Given the description of an element on the screen output the (x, y) to click on. 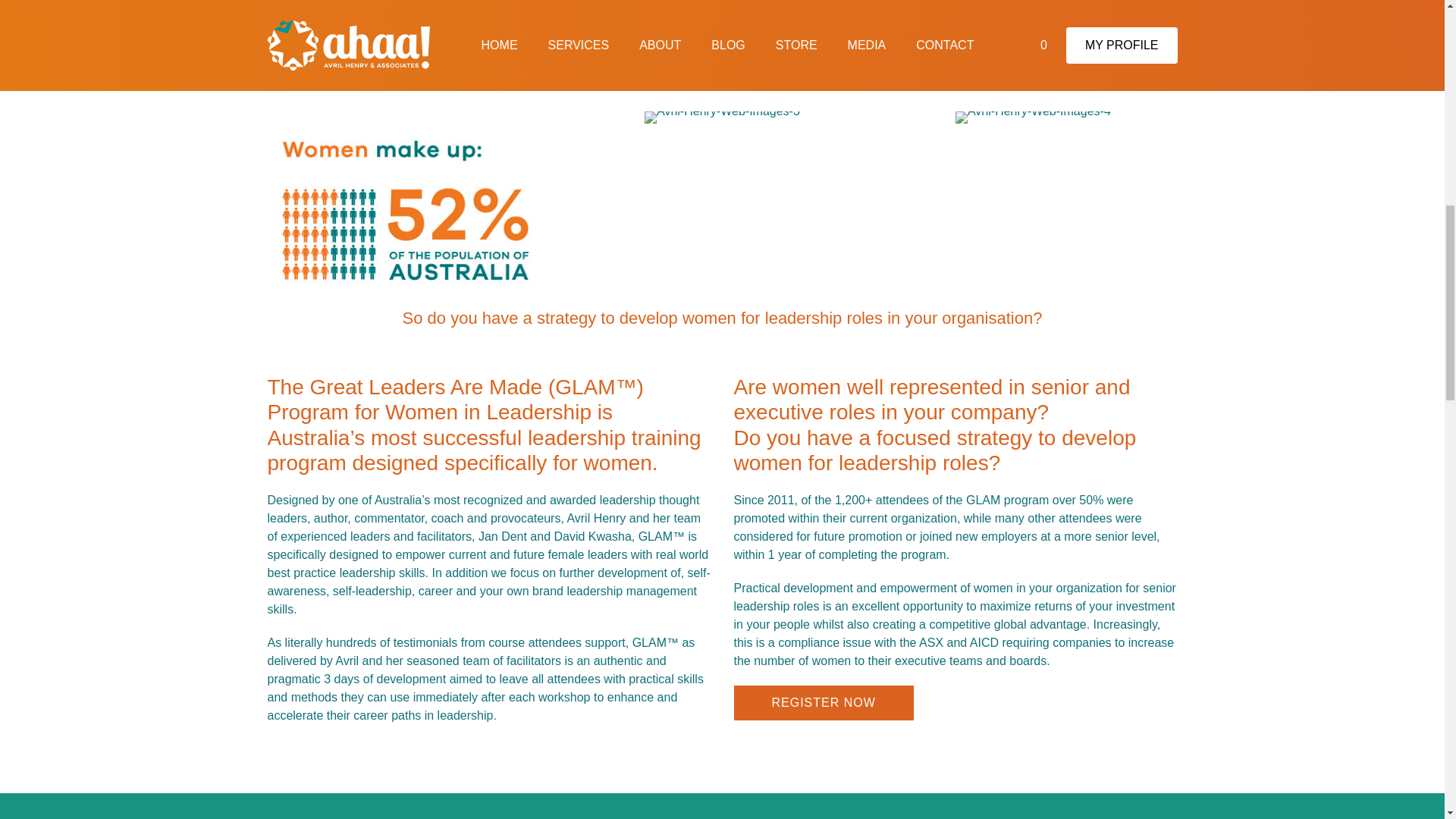
Avril-Henry-Web-Images-4 (1032, 117)
Avril-Henry-Web-Images-3 (722, 117)
REGISTER NOW (823, 702)
Avril-Henry-Web-Images-2 (410, 209)
